Given the description of an element on the screen output the (x, y) to click on. 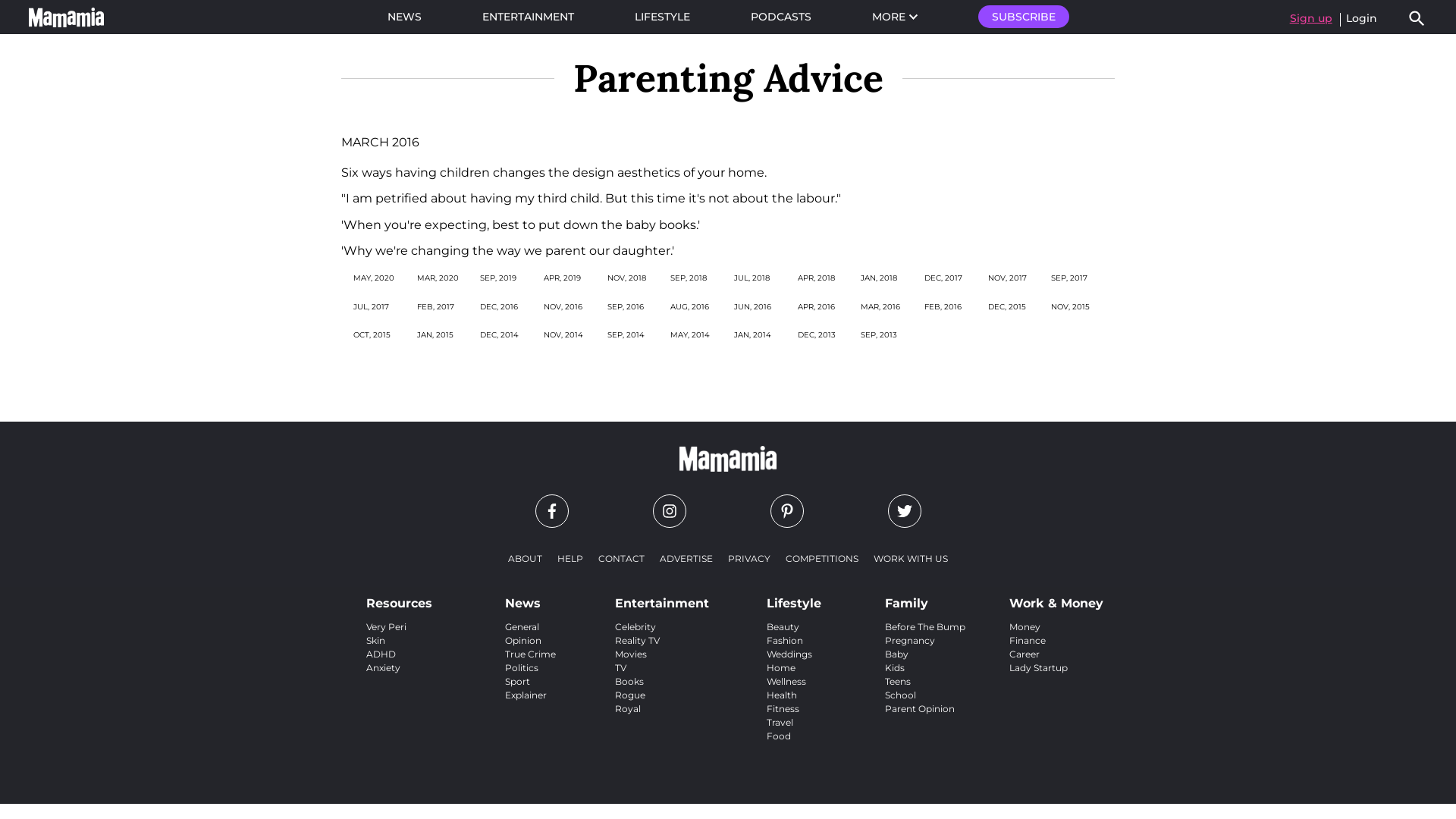
Entertainment Element type: text (662, 599)
Family Element type: text (924, 599)
ENTERTAINMENT Element type: text (528, 16)
NOV, 2016 Element type: text (562, 306)
Sport Element type: text (517, 681)
PODCASTS Element type: text (780, 16)
DEC, 2015 Element type: text (1007, 306)
Lady Startup Element type: text (1038, 667)
News Element type: text (530, 599)
DEC, 2013 Element type: text (816, 334)
SEP, 2017 Element type: text (1069, 277)
School Element type: text (900, 694)
'When you're expecting, best to put down the baby books.' Element type: text (520, 224)
DEC, 2017 Element type: text (943, 277)
Food Element type: text (778, 735)
Resources Element type: text (399, 599)
LIFESTYLE Element type: text (661, 16)
Parent Opinion Element type: text (919, 708)
FEB, 2017 Element type: text (435, 306)
Teens Element type: text (897, 681)
CONTACT Element type: text (621, 558)
Rogue Element type: text (630, 694)
Finance Element type: text (1027, 640)
MAY, 2014 Element type: text (689, 334)
NOV, 2017 Element type: text (1007, 277)
Before The Bump Element type: text (924, 626)
Opinion Element type: text (523, 640)
Beauty Element type: text (782, 626)
ABOUT Element type: text (524, 558)
SEP, 2013 Element type: text (878, 334)
Home Element type: text (780, 667)
Explainer Element type: text (525, 694)
NOV, 2018 Element type: text (626, 277)
JUL, 2017 Element type: text (371, 306)
ADVERTISE Element type: text (686, 558)
AUG, 2016 Element type: text (689, 306)
JUL, 2018 Element type: text (751, 277)
Search Element type: text (1416, 17)
Celebrity Element type: text (635, 626)
Health Element type: text (781, 694)
Travel Element type: text (779, 722)
Reality TV Element type: text (637, 640)
JUN, 2016 Element type: text (752, 306)
ADHD Element type: text (380, 653)
NOV, 2015 Element type: text (1070, 306)
SEP, 2014 Element type: text (625, 334)
APR, 2016 Element type: text (815, 306)
DEC, 2014 Element type: text (499, 334)
Books Element type: text (629, 681)
APR, 2018 Element type: text (815, 277)
Fashion Element type: text (784, 640)
Anxiety Element type: text (383, 667)
Login Element type: text (1361, 17)
'Why we're changing the way we parent our daughter.' Element type: text (507, 250)
Career Element type: text (1024, 653)
Fitness Element type: text (782, 708)
FEB, 2016 Element type: text (942, 306)
SEP, 2016 Element type: text (625, 306)
Pregnancy Element type: text (909, 640)
TV Element type: text (620, 667)
Skin Element type: text (375, 640)
DEC, 2016 Element type: text (498, 306)
Movies Element type: text (630, 653)
Kids Element type: text (894, 667)
Wellness Element type: text (786, 681)
Work & Money Element type: text (1056, 599)
APR, 2019 Element type: text (561, 277)
Politics Element type: text (521, 667)
HELP Element type: text (569, 558)
MAR, 2016 Element type: text (880, 306)
SEP, 2019 Element type: text (498, 277)
SEP, 2018 Element type: text (688, 277)
JAN, 2014 Element type: text (752, 334)
MAY, 2020 Element type: text (373, 277)
General Element type: text (522, 626)
PRIVACY Element type: text (749, 558)
Lifestyle Element type: text (793, 599)
MAR, 2020 Element type: text (437, 277)
Baby Element type: text (896, 653)
True Crime Element type: text (530, 653)
Money Element type: text (1024, 626)
NEWS Element type: text (403, 16)
COMPETITIONS Element type: text (822, 558)
NOV, 2014 Element type: text (563, 334)
SUBSCRIBE
Subscribe to Mamamia Element type: text (1023, 16)
Weddings Element type: text (789, 653)
JAN, 2015 Element type: text (435, 334)
WORK WITH US Element type: text (910, 558)
OCT, 2015 Element type: text (371, 334)
MORE Element type: text (894, 17)
JAN, 2018 Element type: text (878, 277)
Royal Element type: text (627, 708)
Sign up Element type: text (1311, 17)
Very Peri Element type: text (386, 626)
